Given the description of an element on the screen output the (x, y) to click on. 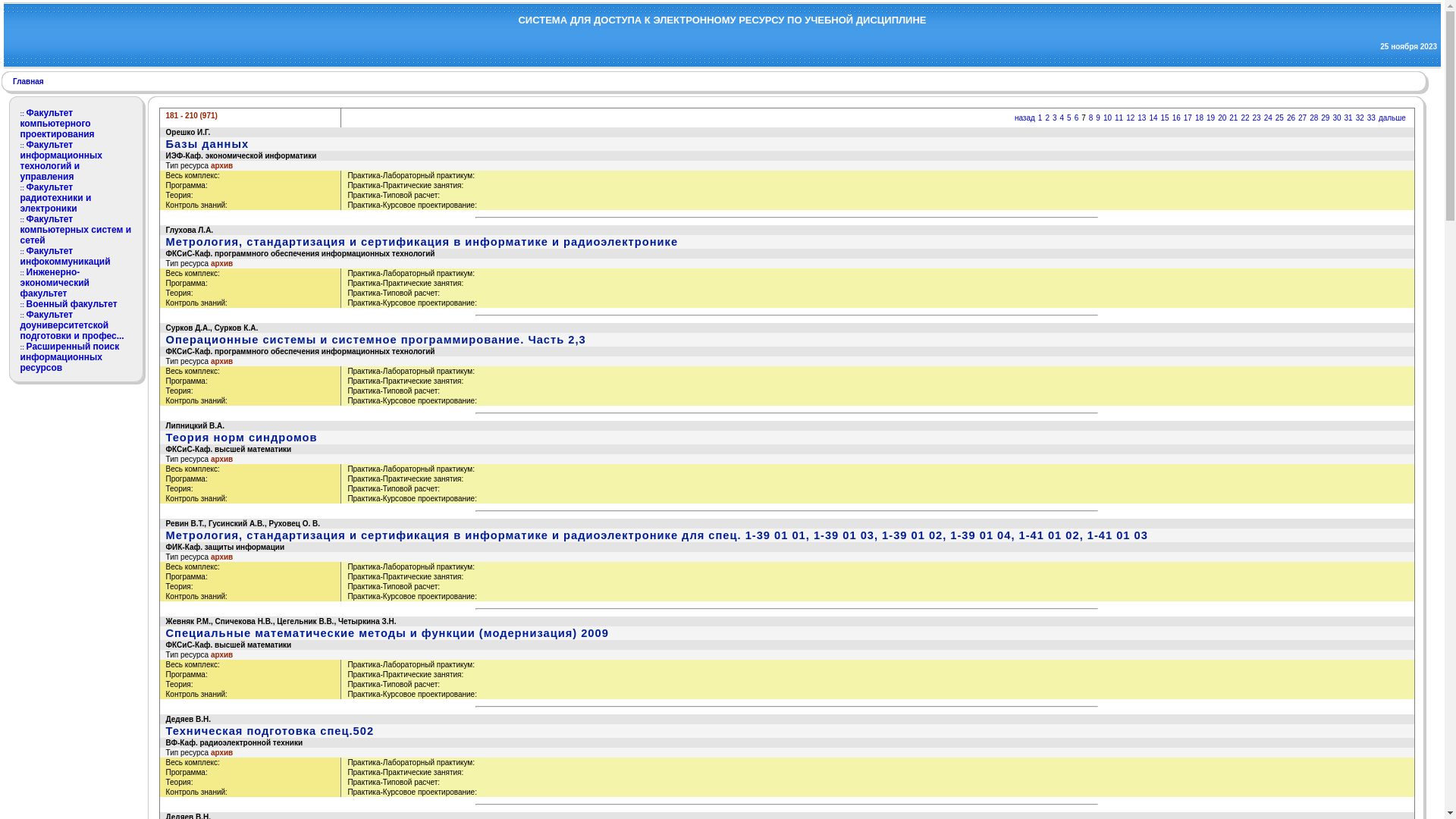
25 Element type: text (1279, 117)
12 Element type: text (1130, 117)
13 Element type: text (1141, 117)
5 Element type: text (1068, 117)
26 Element type: text (1290, 117)
18 Element type: text (1199, 117)
4 Element type: text (1062, 117)
20 Element type: text (1221, 117)
11 Element type: text (1118, 117)
29 Element type: text (1325, 117)
9 Element type: text (1097, 117)
23 Element type: text (1256, 117)
6 Element type: text (1076, 117)
10 Element type: text (1107, 117)
24 Element type: text (1268, 117)
8 Element type: text (1090, 117)
1 Element type: text (1040, 117)
31 Element type: text (1348, 117)
3 Element type: text (1054, 117)
21 Element type: text (1233, 117)
2 Element type: text (1046, 117)
22 Element type: text (1244, 117)
33 Element type: text (1371, 117)
27 Element type: text (1302, 117)
19 Element type: text (1210, 117)
28 Element type: text (1313, 117)
17 Element type: text (1187, 117)
32 Element type: text (1359, 117)
15 Element type: text (1165, 117)
14 Element type: text (1152, 117)
16 Element type: text (1176, 117)
30 Element type: text (1336, 117)
